Given the description of an element on the screen output the (x, y) to click on. 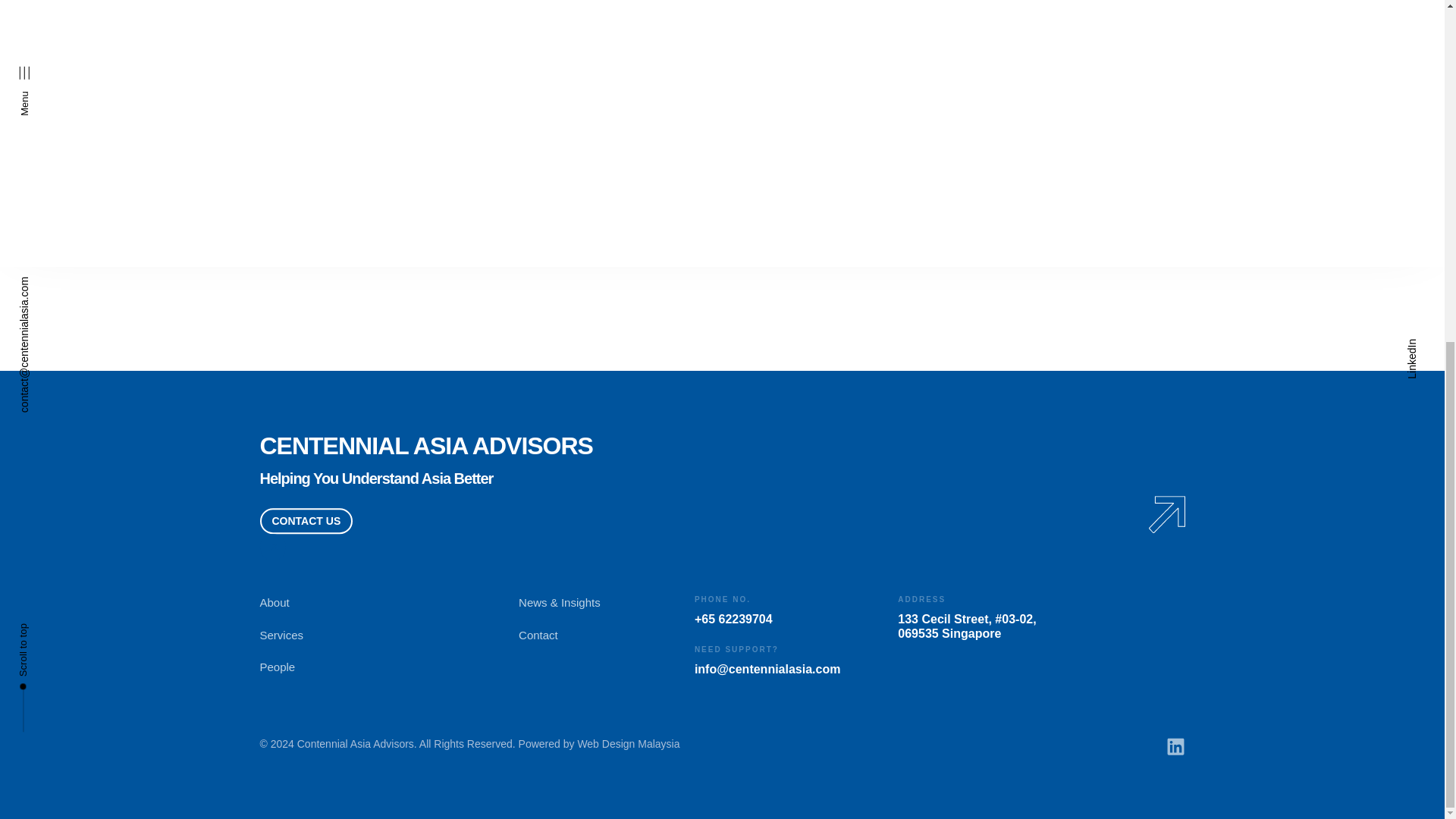
CONTACT US (305, 72)
About (388, 155)
Services (388, 187)
